Given the description of an element on the screen output the (x, y) to click on. 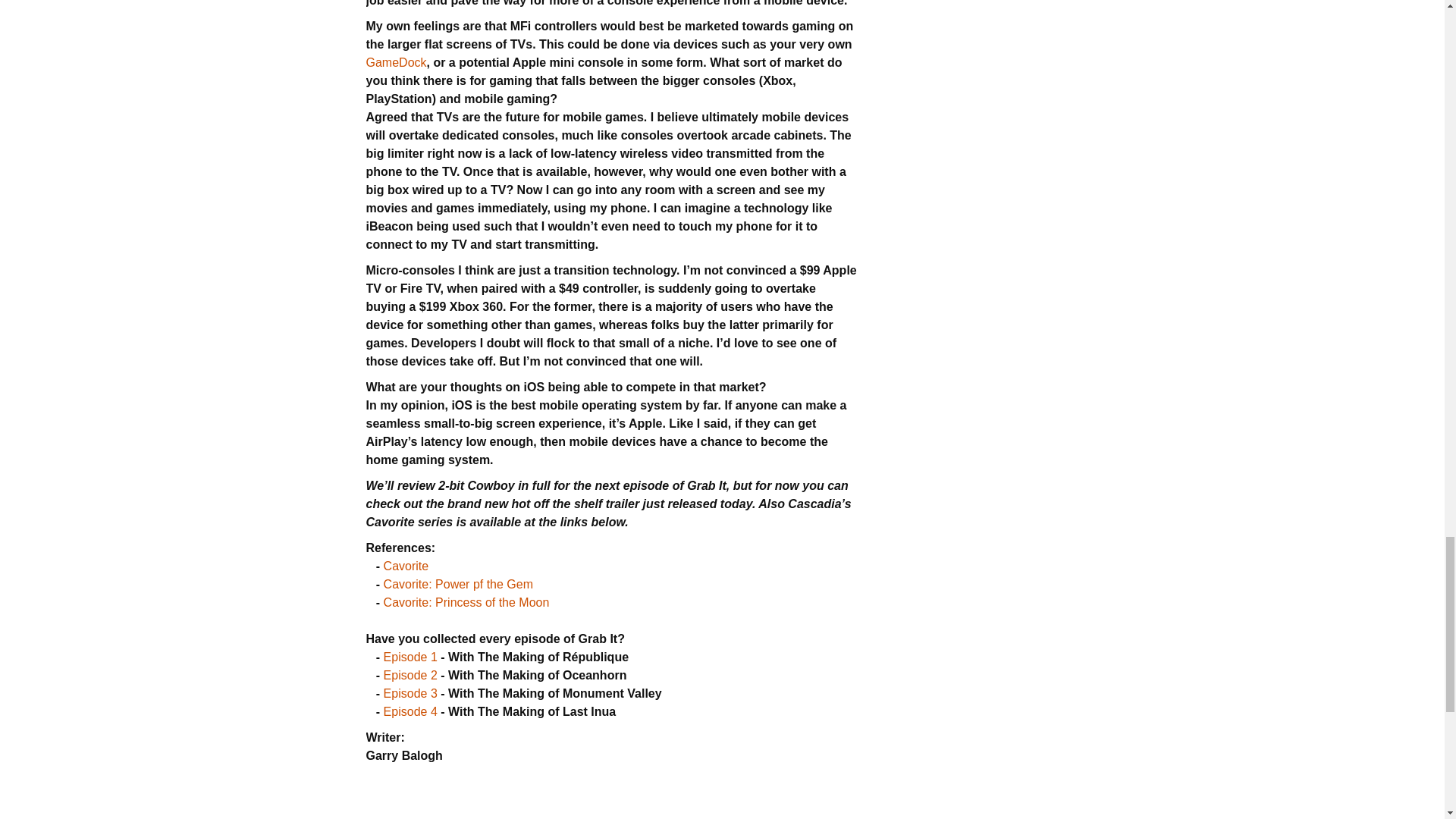
GameDock (395, 62)
Cavorite (406, 565)
Episode 2 (411, 675)
Cavorite: Power pf the Gem (458, 584)
Cavorite: Princess of the Moon (467, 602)
Episode 1 (411, 656)
